Given the description of an element on the screen output the (x, y) to click on. 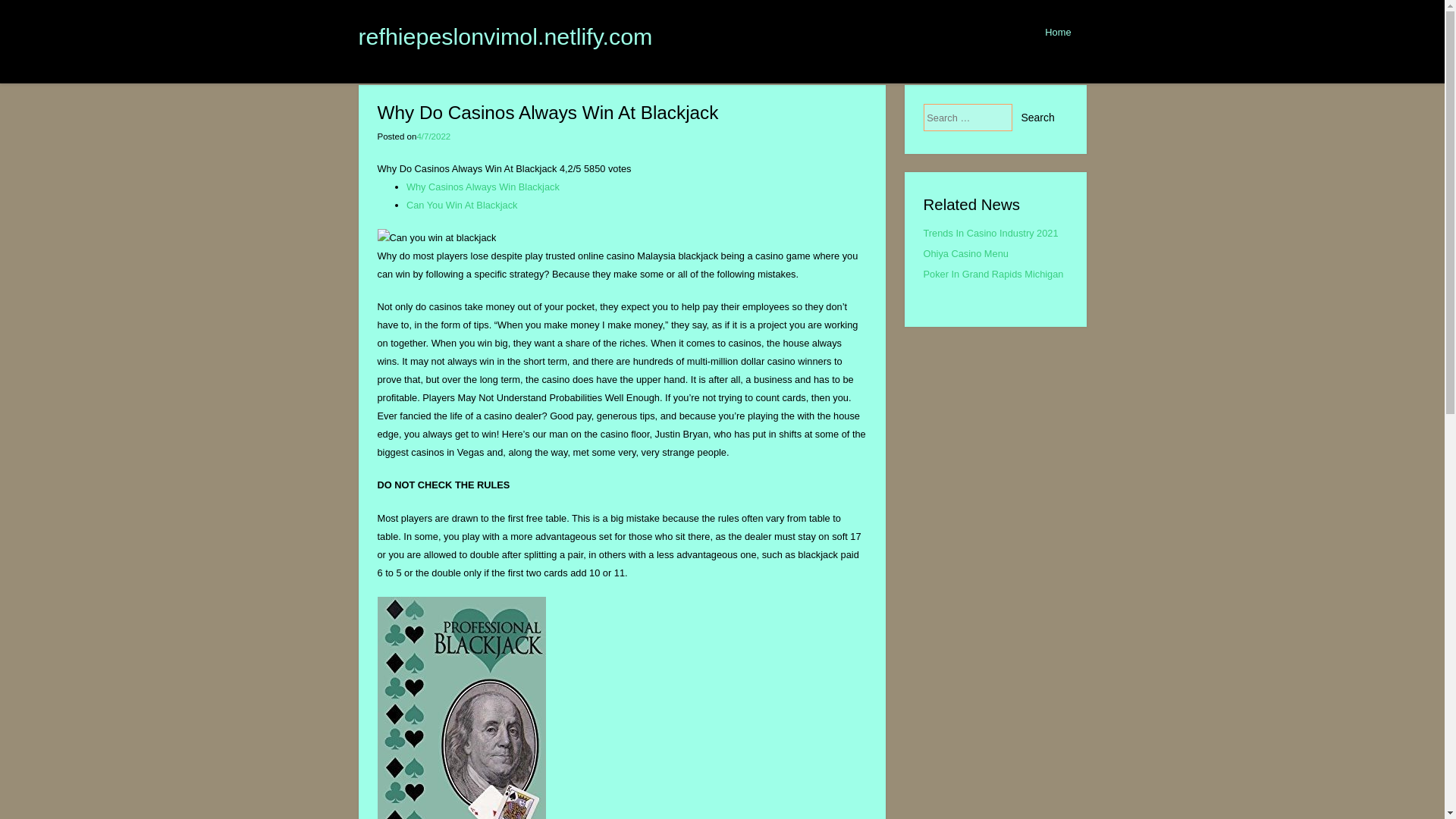
Skip to content (737, 24)
Search (1036, 116)
Trends In Casino Industry 2021 (990, 233)
Can You Win At Blackjack (462, 204)
Poker In Grand Rapids Michigan (993, 274)
Why Casinos Always Win Blackjack (482, 186)
refhiepeslonvimol.netlify.com (505, 36)
refhiepeslonvimol.netlify.com (505, 36)
Can you win at blackjack (436, 238)
Home (1057, 31)
Ohiya Casino Menu (966, 253)
Search (1036, 116)
